Given the description of an element on the screen output the (x, y) to click on. 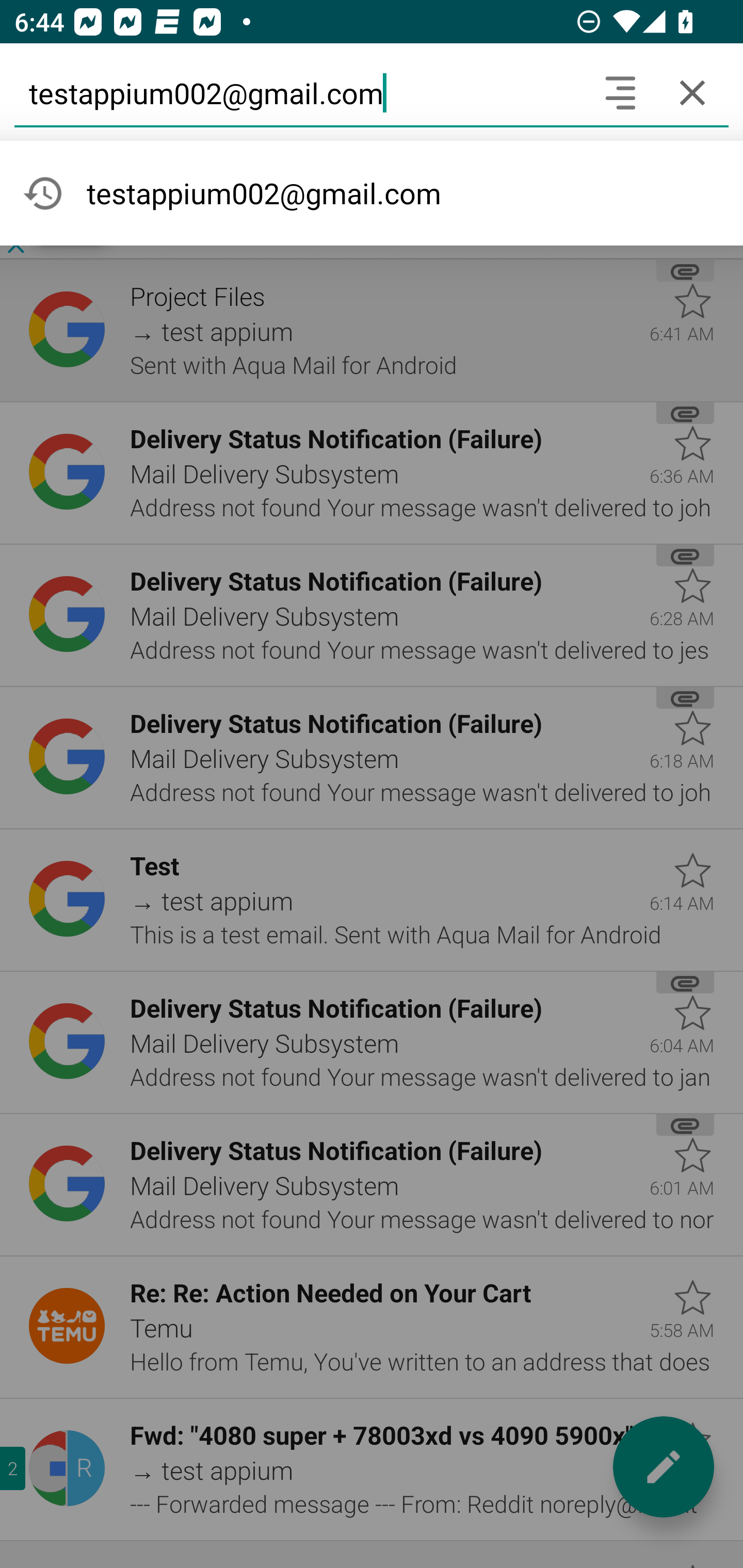
testappium002@gmail.com (298, 92)
Search headers and text (619, 92)
Cancel (692, 92)
